Given the description of an element on the screen output the (x, y) to click on. 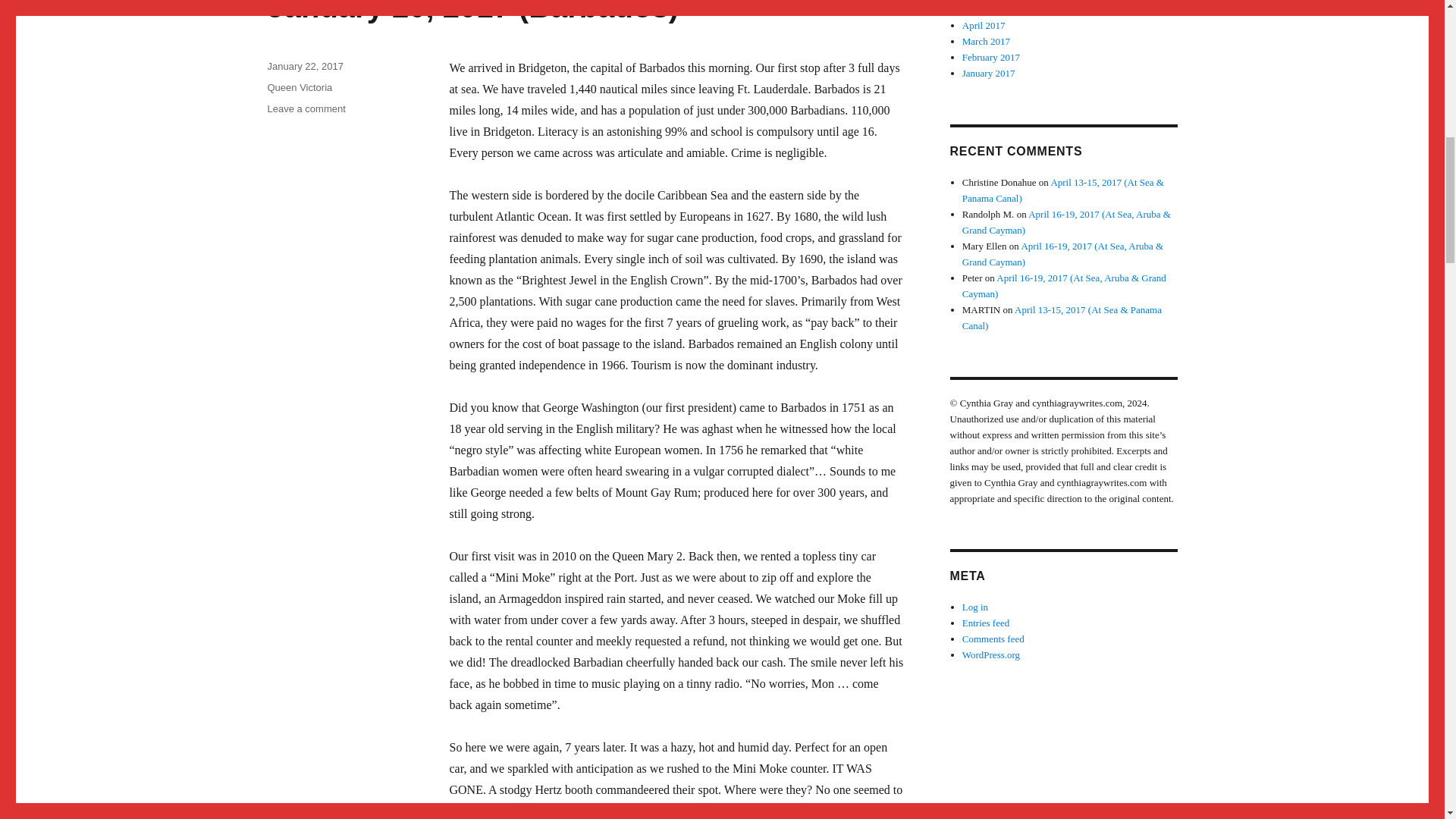
WordPress.org (991, 654)
Queen Victoria (298, 87)
February 2017 (991, 57)
Entries feed (985, 622)
January 2017 (988, 72)
Comments feed (993, 638)
Log in (975, 606)
April 2017 (984, 25)
March 2017 (986, 41)
January 22, 2017 (304, 66)
